Given the description of an element on the screen output the (x, y) to click on. 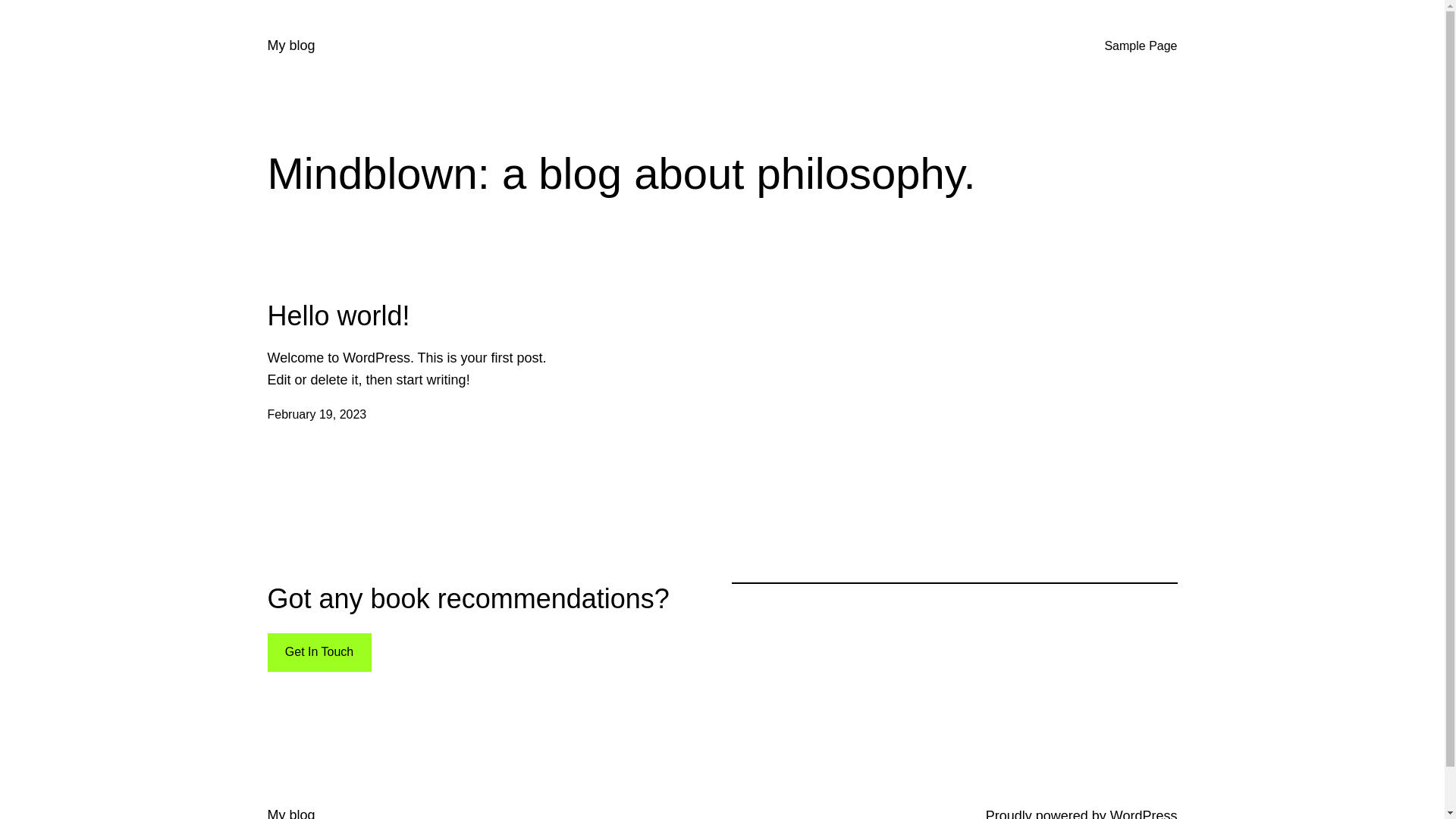
Sample Page Element type: text (1140, 46)
Hello world! Element type: text (337, 315)
My blog Element type: text (290, 45)
February 19, 2023 Element type: text (316, 413)
Get In Touch Element type: text (318, 652)
